Given the description of an element on the screen output the (x, y) to click on. 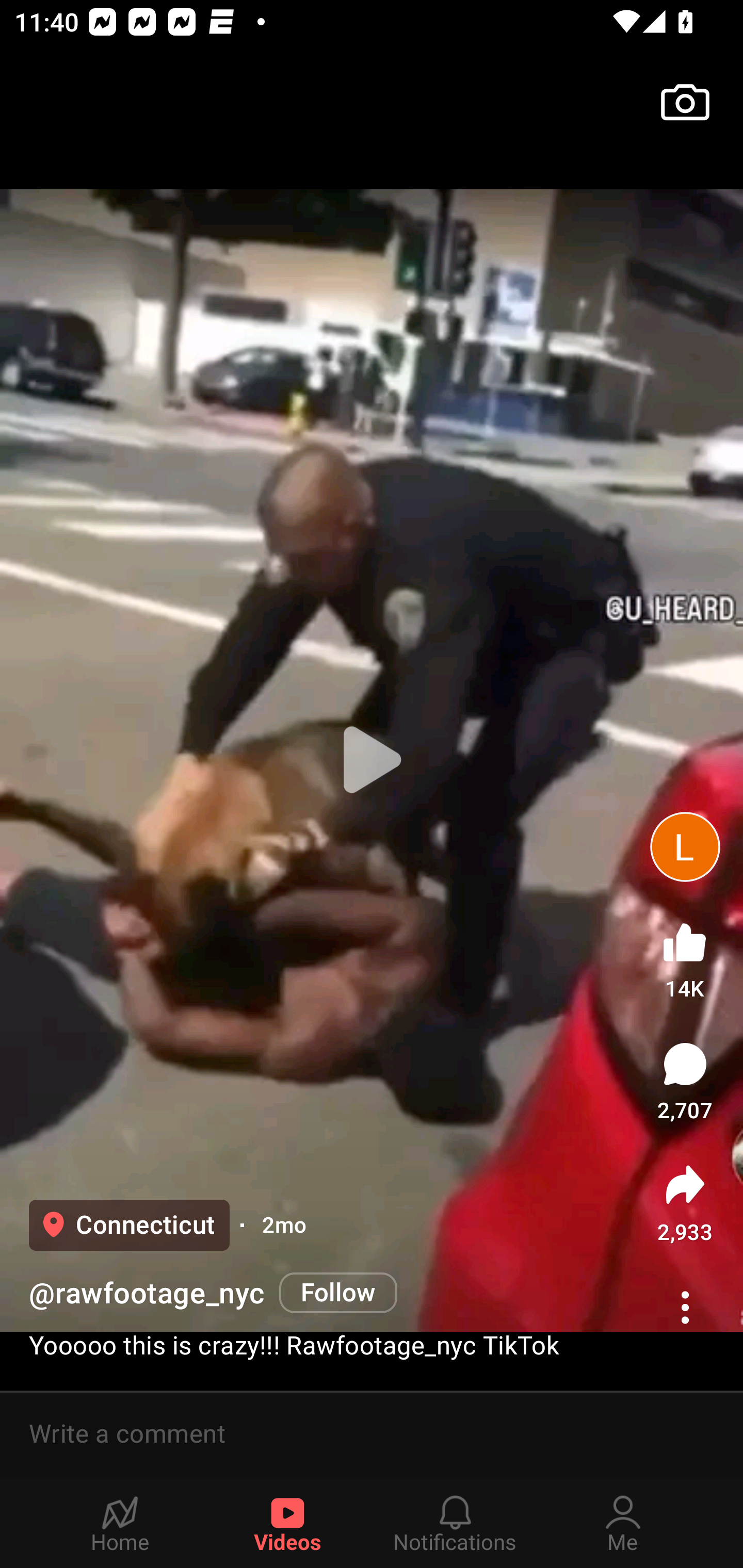
14K (684, 956)
2,707 (685, 1081)
2,933 (685, 1203)
Connecticut (128, 1225)
Follow (338, 1293)
@rawfootage_nyc (146, 1293)
Write a comment (371, 1433)
Home (119, 1522)
Notifications (455, 1522)
Me (622, 1522)
